Given the description of an element on the screen output the (x, y) to click on. 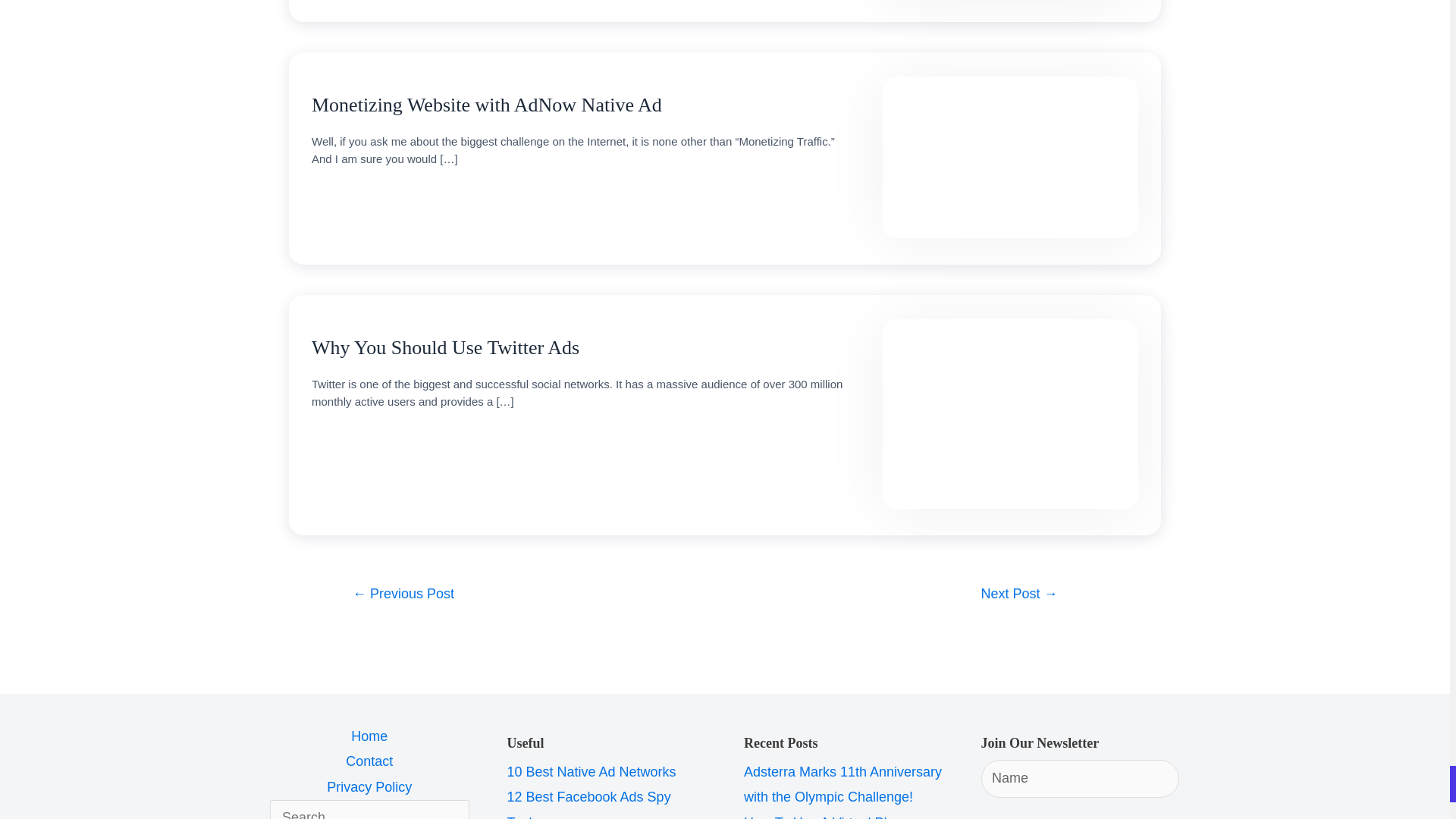
Search (451, 809)
Name (1080, 778)
Search (451, 809)
